Given the description of an element on the screen output the (x, y) to click on. 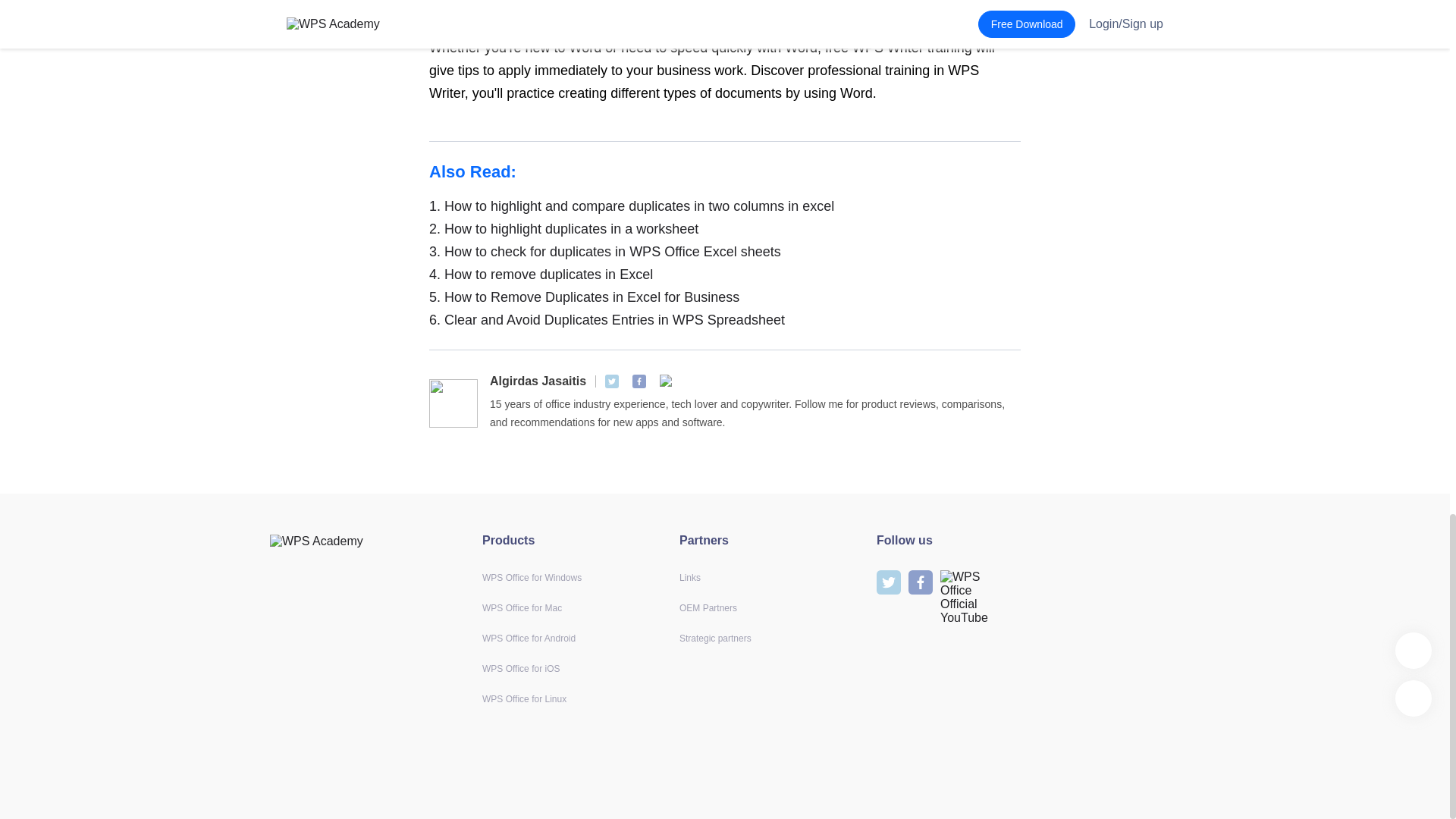
4. How to remove duplicates in Excel (724, 273)
WPS Office Official Twitter (611, 381)
WPS Office Official YouTube (665, 381)
Strategic partners (715, 638)
WPS Office for Android (528, 638)
How to check for duplicates in WPS Office Excel sheets (724, 251)
WPS Office for Mac (521, 607)
6. Clear and Avoid Duplicates Entries in WPS Spreadsheet (724, 319)
WPS Office for Linux (523, 698)
How to Remove Duplicates in Excel for Business (724, 296)
Algirdas Jasaitis (537, 381)
OEM Partners (707, 607)
How to find, replace, and locate content (548, 9)
Clear and Avoid Duplicates Entries in WPS Spreadsheet (724, 319)
